Given the description of an element on the screen output the (x, y) to click on. 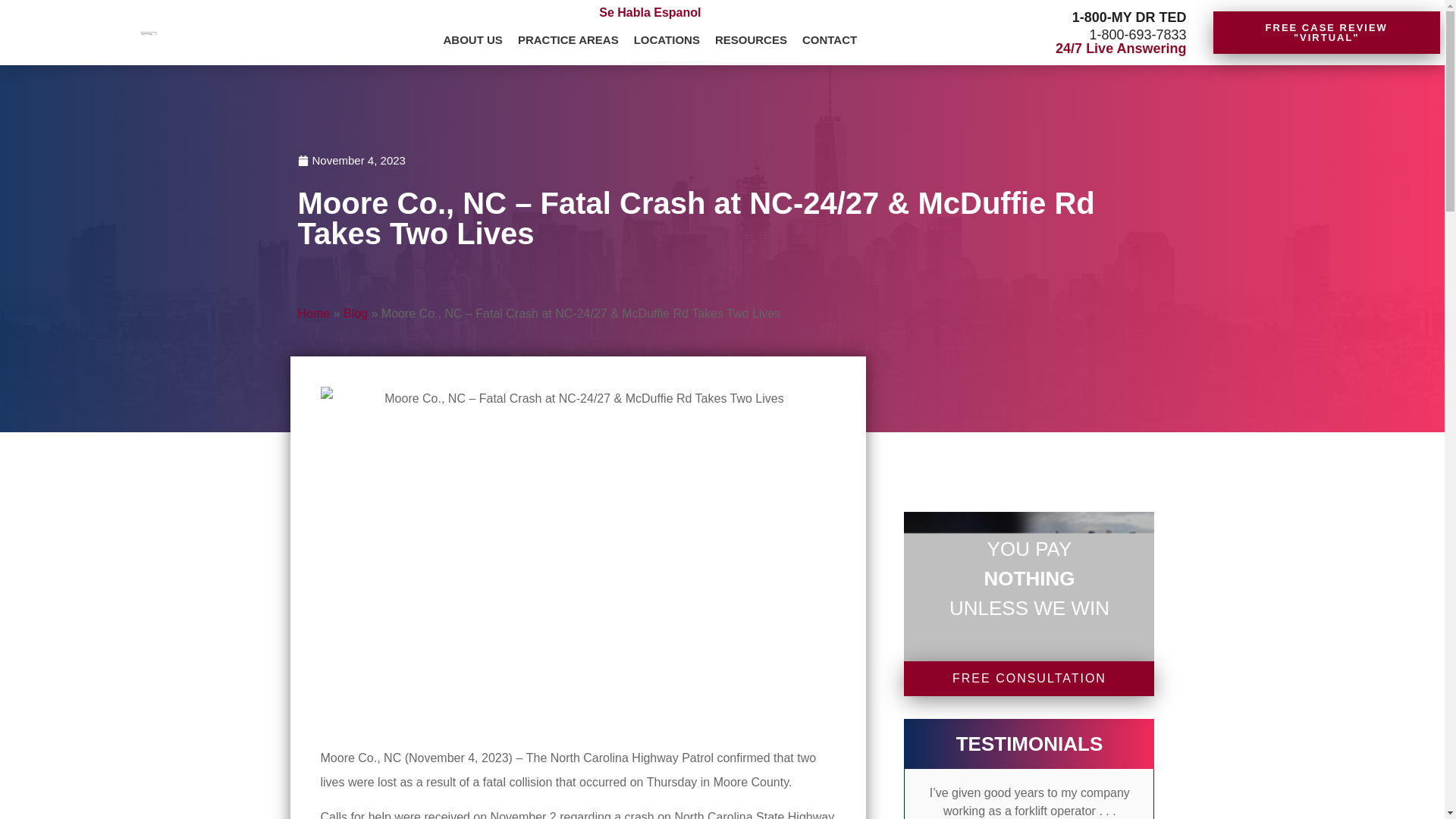
Se Habla Espanol (649, 11)
ABOUT US (473, 40)
PRACTICE AREAS (568, 40)
LOCATIONS (666, 40)
